Given the description of an element on the screen output the (x, y) to click on. 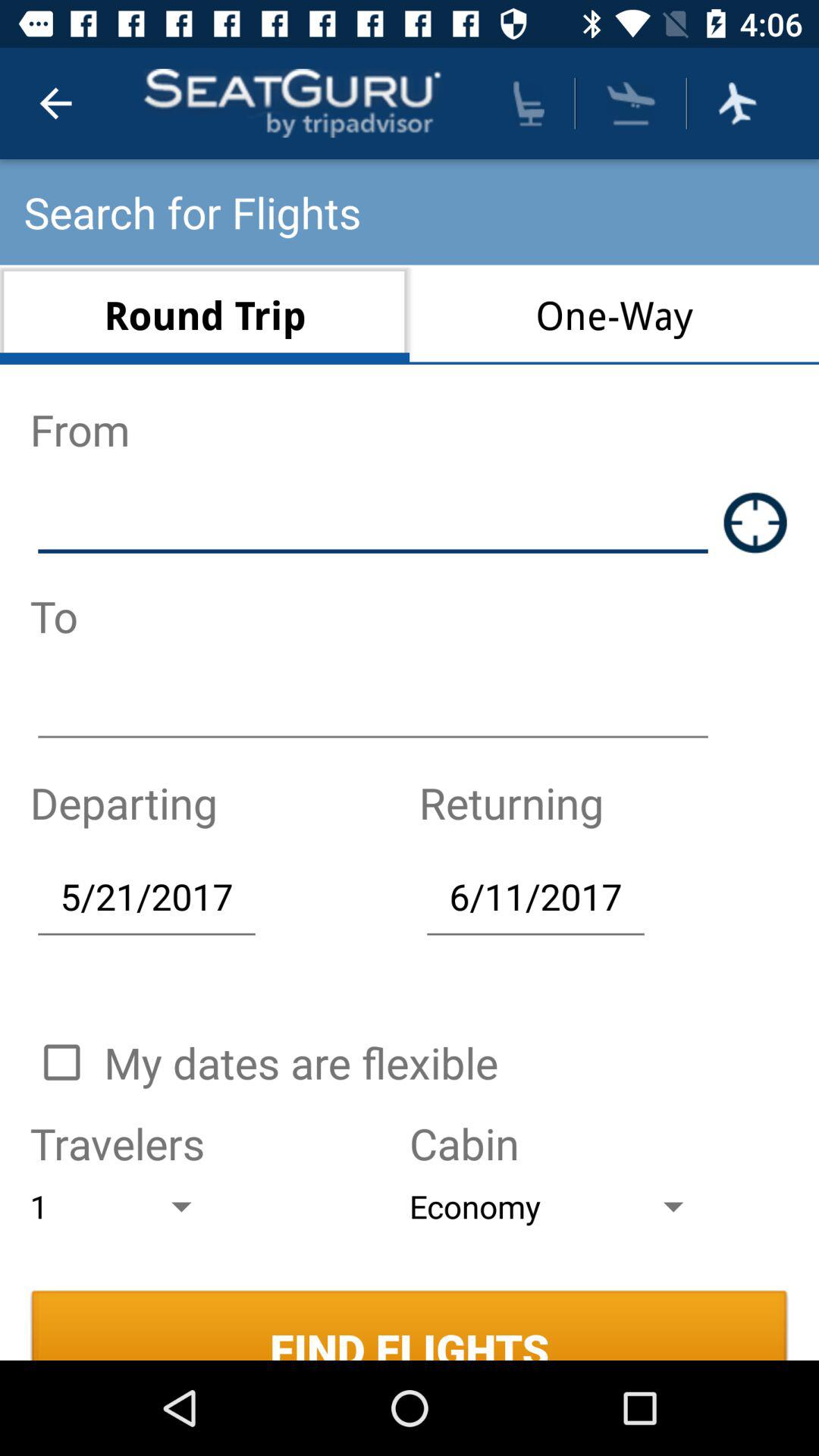
geolocalization (755, 522)
